Given the description of an element on the screen output the (x, y) to click on. 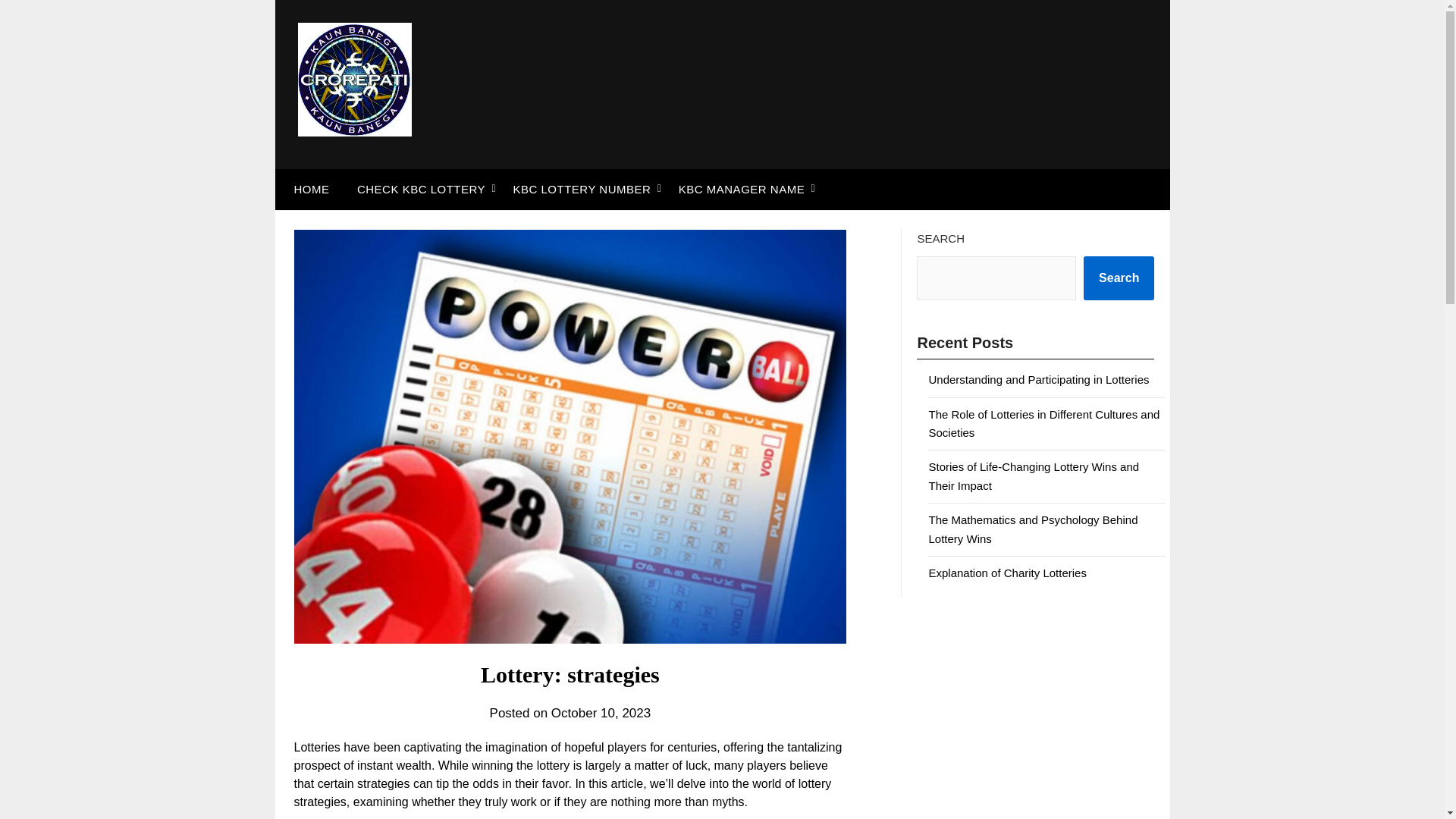
HOME (307, 188)
KBC MANAGER NAME (741, 188)
KBC LOTTERY NUMBER (581, 188)
The Role of Lotteries in Different Cultures and Societies (1043, 422)
Explanation of Charity Lotteries (1007, 572)
CHECK KBC LOTTERY (421, 188)
The Mathematics and Psychology Behind Lottery Wins (1032, 528)
Stories of Life-Changing Lottery Wins and Their Impact (1033, 475)
Understanding and Participating in Lotteries (1038, 379)
Search (1118, 278)
